Given the description of an element on the screen output the (x, y) to click on. 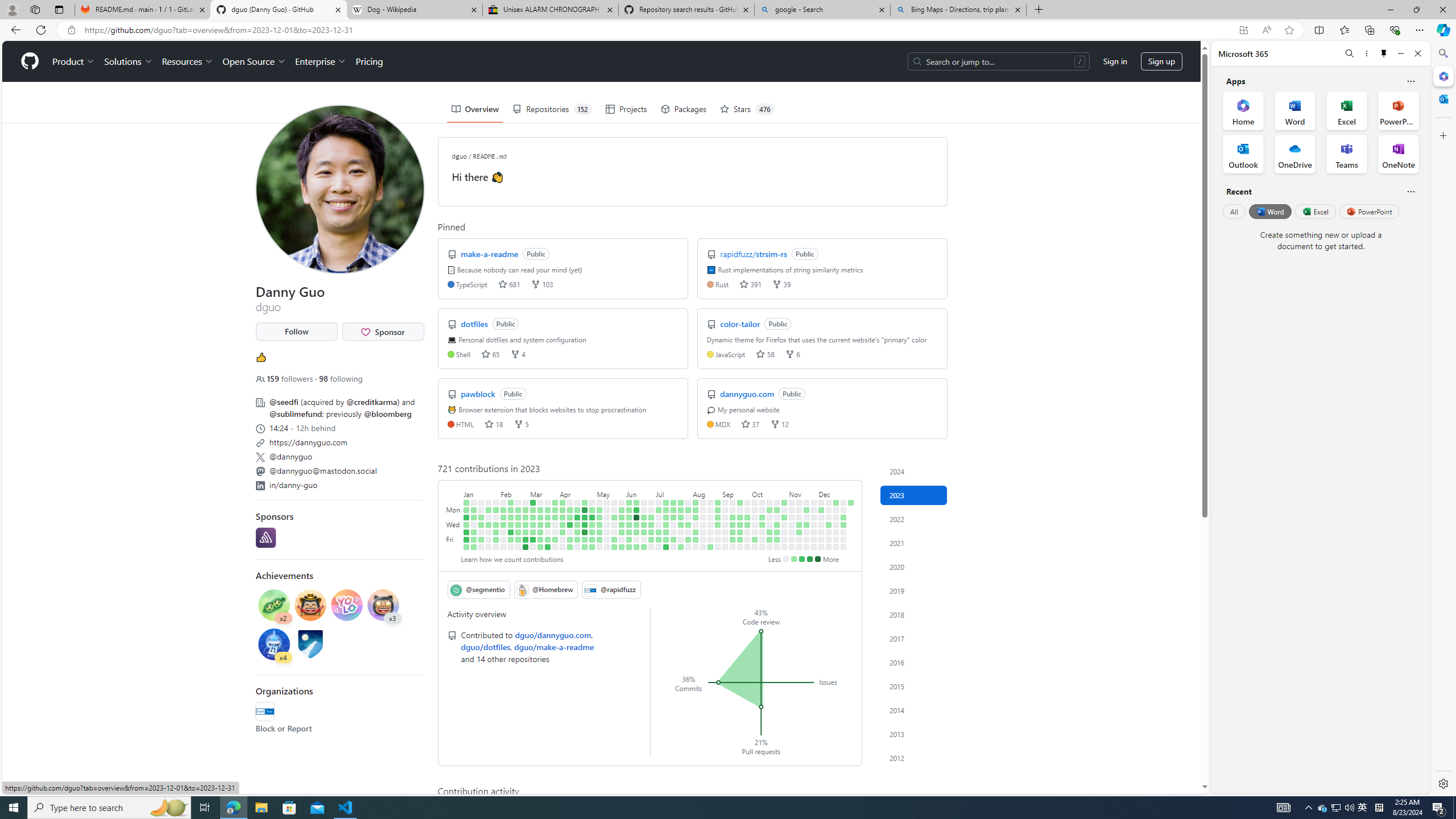
1 contribution on June 24th. (643, 546)
No contributions on July 27th. (681, 531)
5 contributions on October 20th. (770, 539)
3 contributions on February 24th. (518, 539)
Enterprise (319, 60)
No contributions on July 19th. (674, 524)
6 contributions on July 7th. (658, 539)
1 contribution on September 26th. (747, 517)
Learn how we count contributions (511, 558)
1 contribution on July 3rd. (658, 509)
No contributions on May 28th. (621, 502)
March (544, 492)
Contribution activity in 2023 (913, 494)
4 contributions on September 21st. (740, 531)
